Given the description of an element on the screen output the (x, y) to click on. 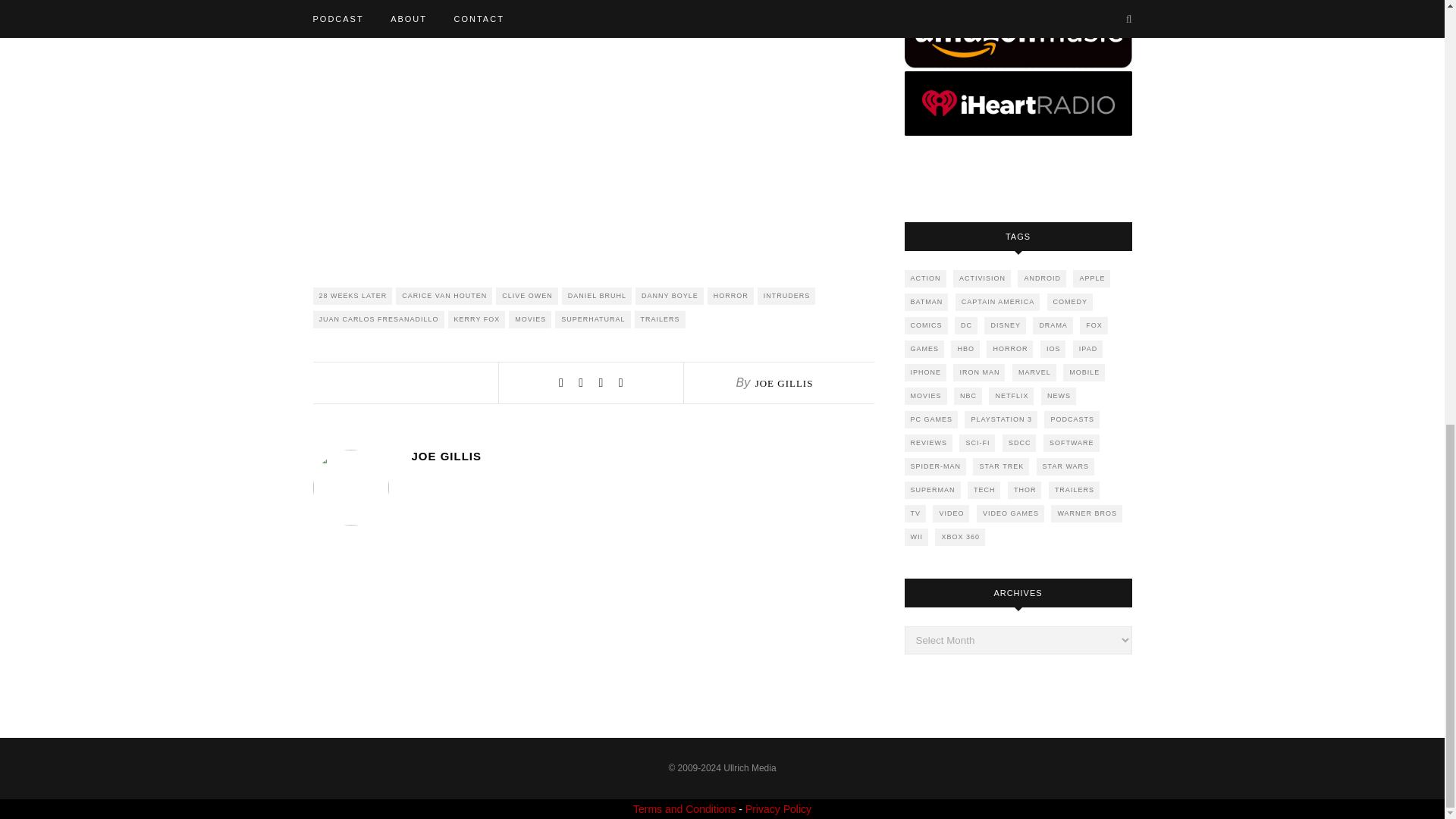
KERRY FOX (476, 319)
INTRUDERS (786, 295)
SUPERHATURAL (592, 319)
Posts by Joe Gillis (641, 455)
Posts by Joe Gillis (784, 383)
JUAN CARLOS FRESANADILLO (378, 319)
JOE GILLIS (641, 455)
DANIEL BRUHL (596, 295)
CLIVE OWEN (526, 295)
TRAILERS (659, 319)
28 WEEKS LATER (352, 295)
JOE GILLIS (784, 383)
HORROR (730, 295)
MOVIES (529, 319)
CARICE VAN HOUTEN (444, 295)
